Given the description of an element on the screen output the (x, y) to click on. 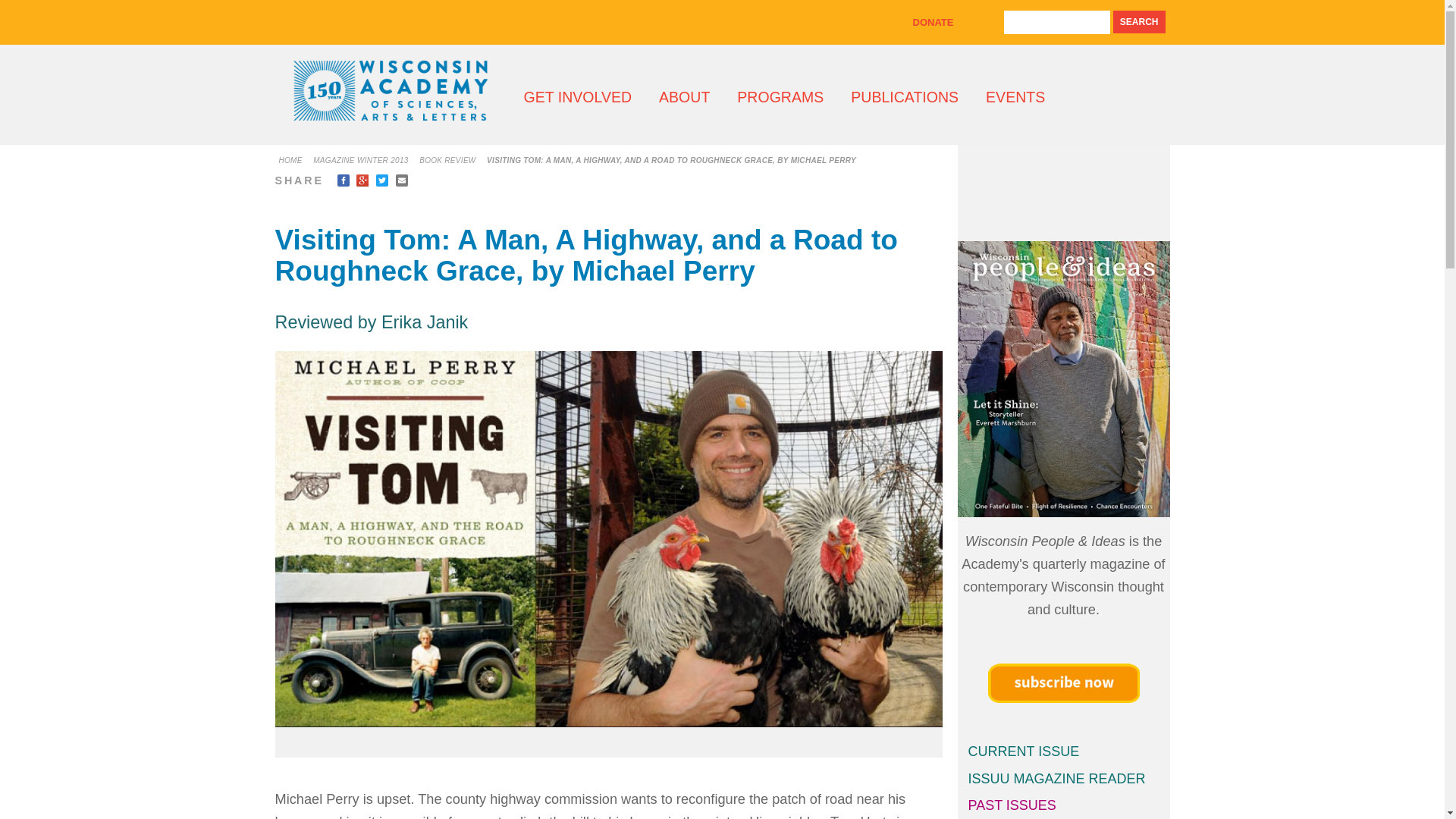
Enter the terms you wish to search for. (1057, 22)
Search (1139, 21)
ABOUT (684, 97)
DONATE (932, 21)
Search (1139, 21)
Skip to main content (693, 1)
EVENTS (1015, 97)
GET INVOLVED (577, 97)
